Given the description of an element on the screen output the (x, y) to click on. 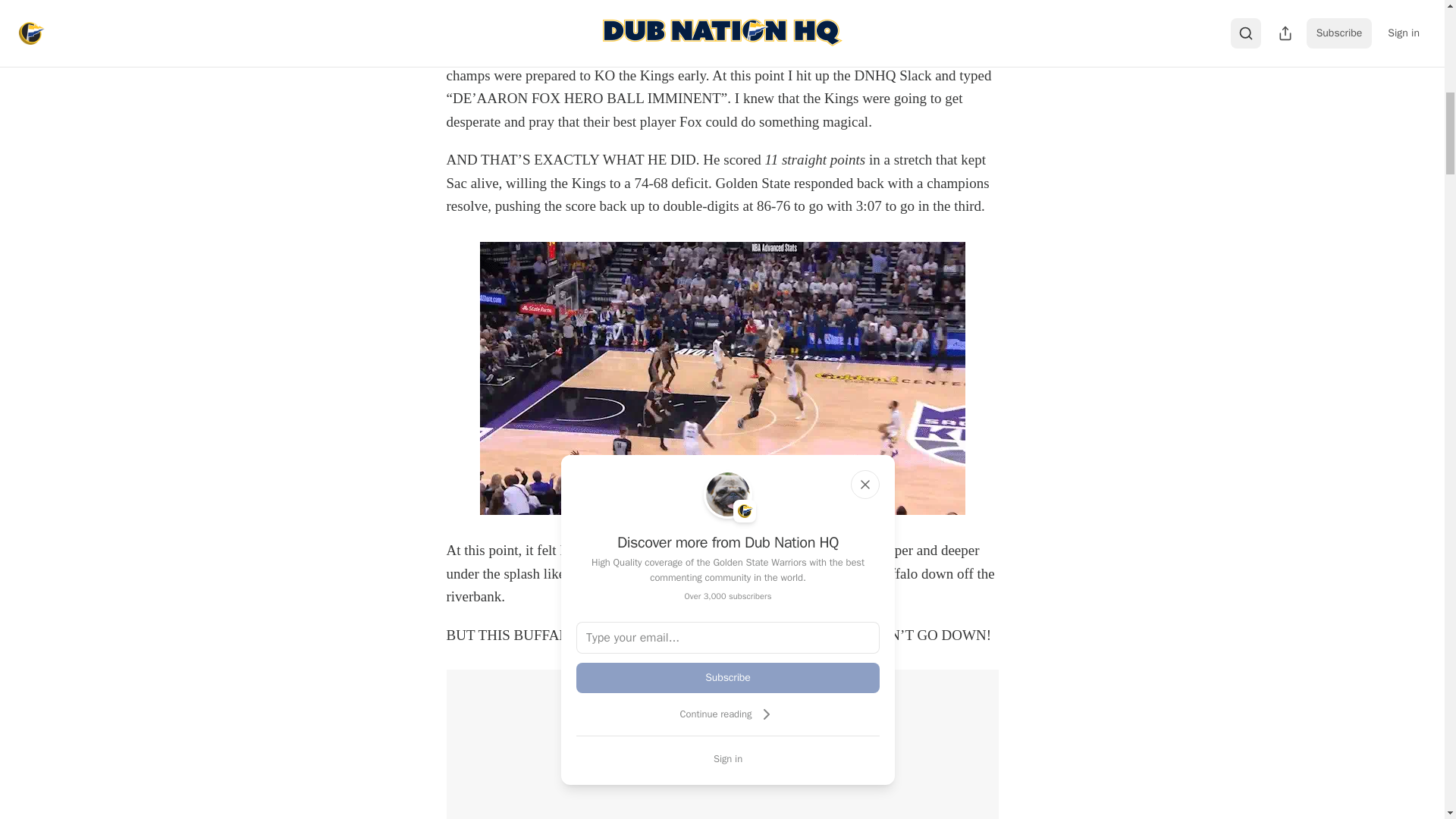
Sign in (727, 758)
Subscribe (727, 677)
